Given the description of an element on the screen output the (x, y) to click on. 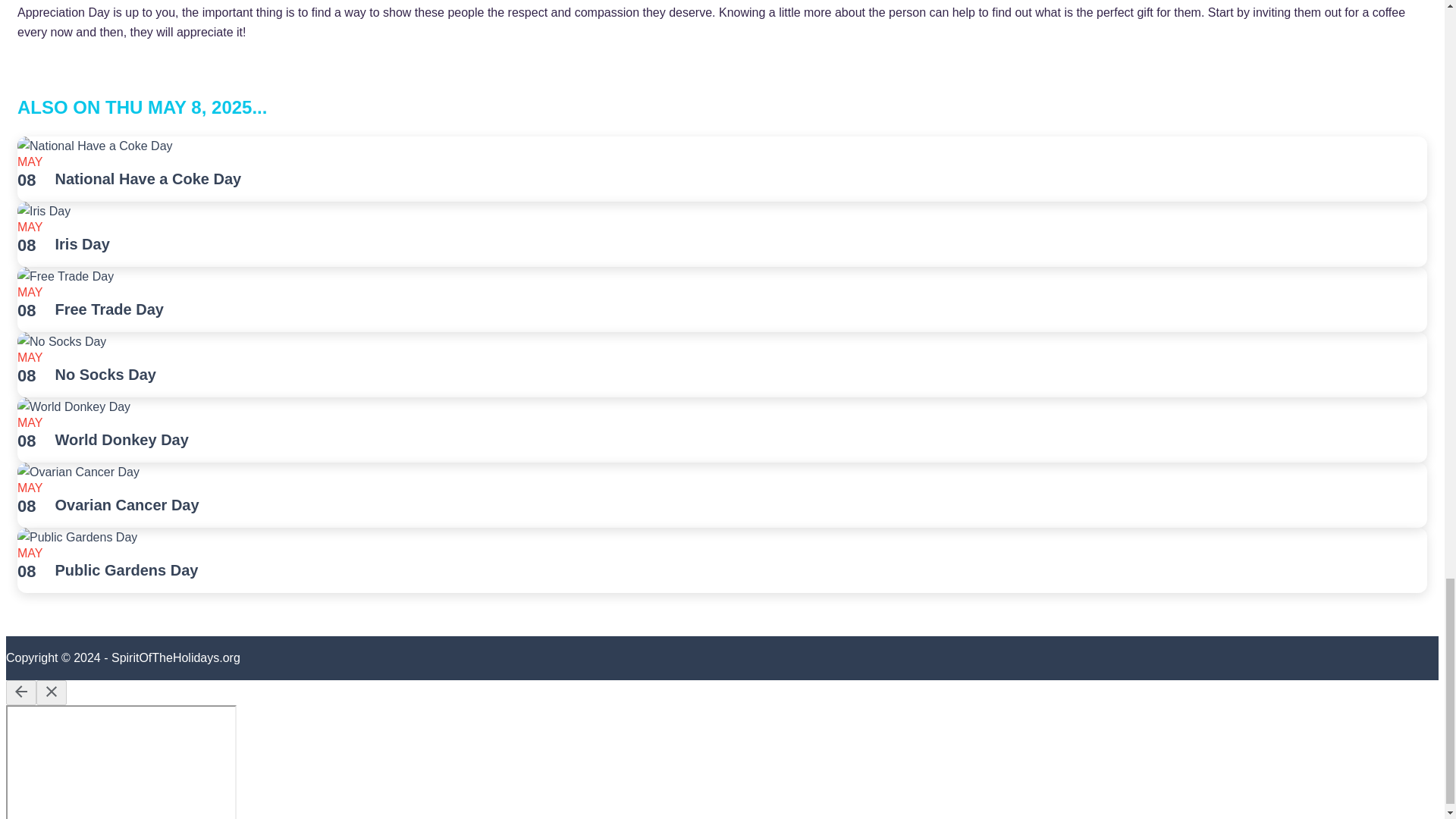
No Socks Day (105, 374)
SpiritOfTheHolidays.org (176, 657)
Public Gardens Day (126, 570)
Ovarian Cancer Day (126, 504)
Free Trade Day (109, 309)
National Have a Coke Day (148, 178)
World Donkey Day (121, 439)
Iris Day (82, 243)
